Given the description of an element on the screen output the (x, y) to click on. 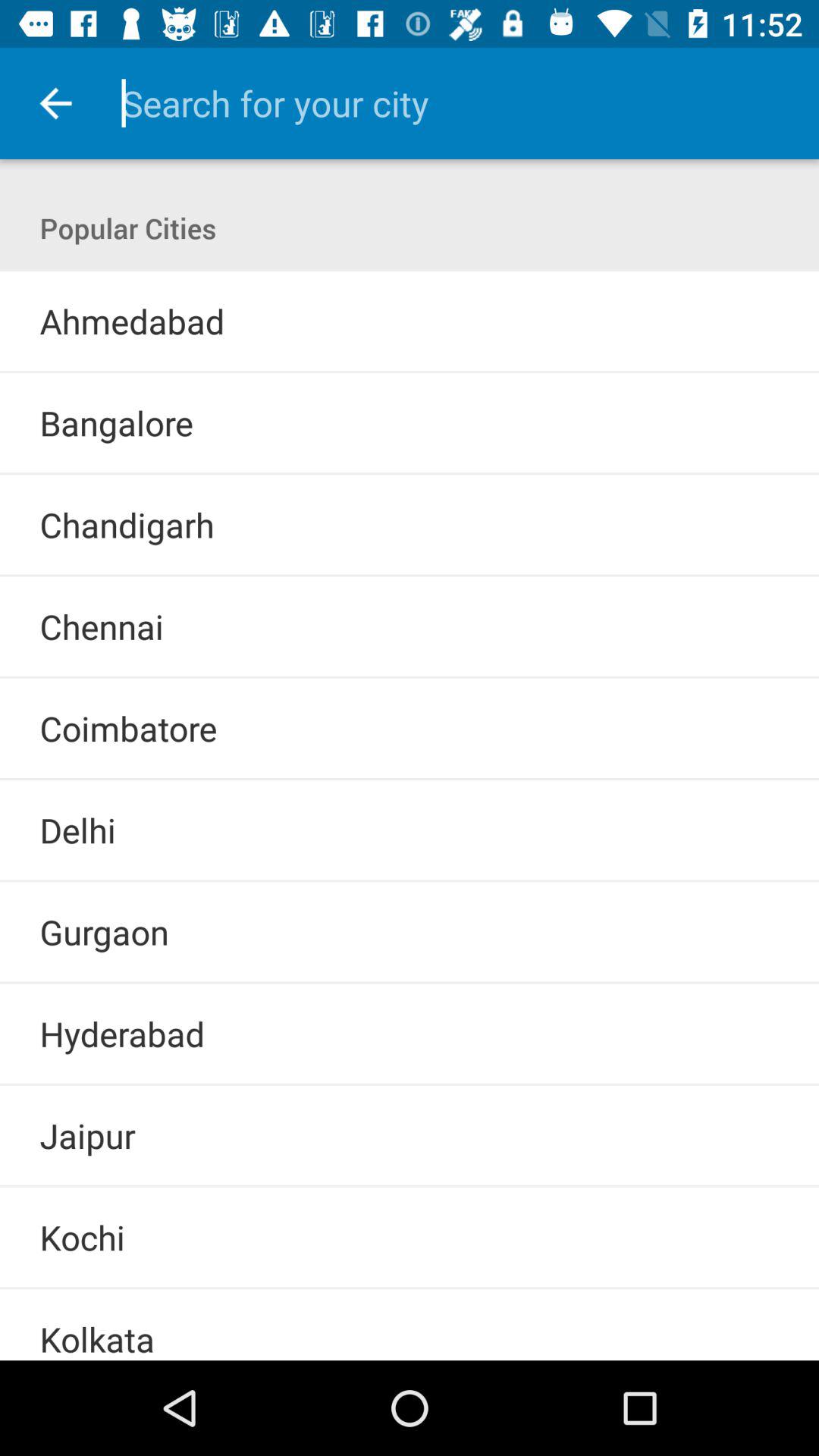
swipe until bangalore item (116, 422)
